Given the description of an element on the screen output the (x, y) to click on. 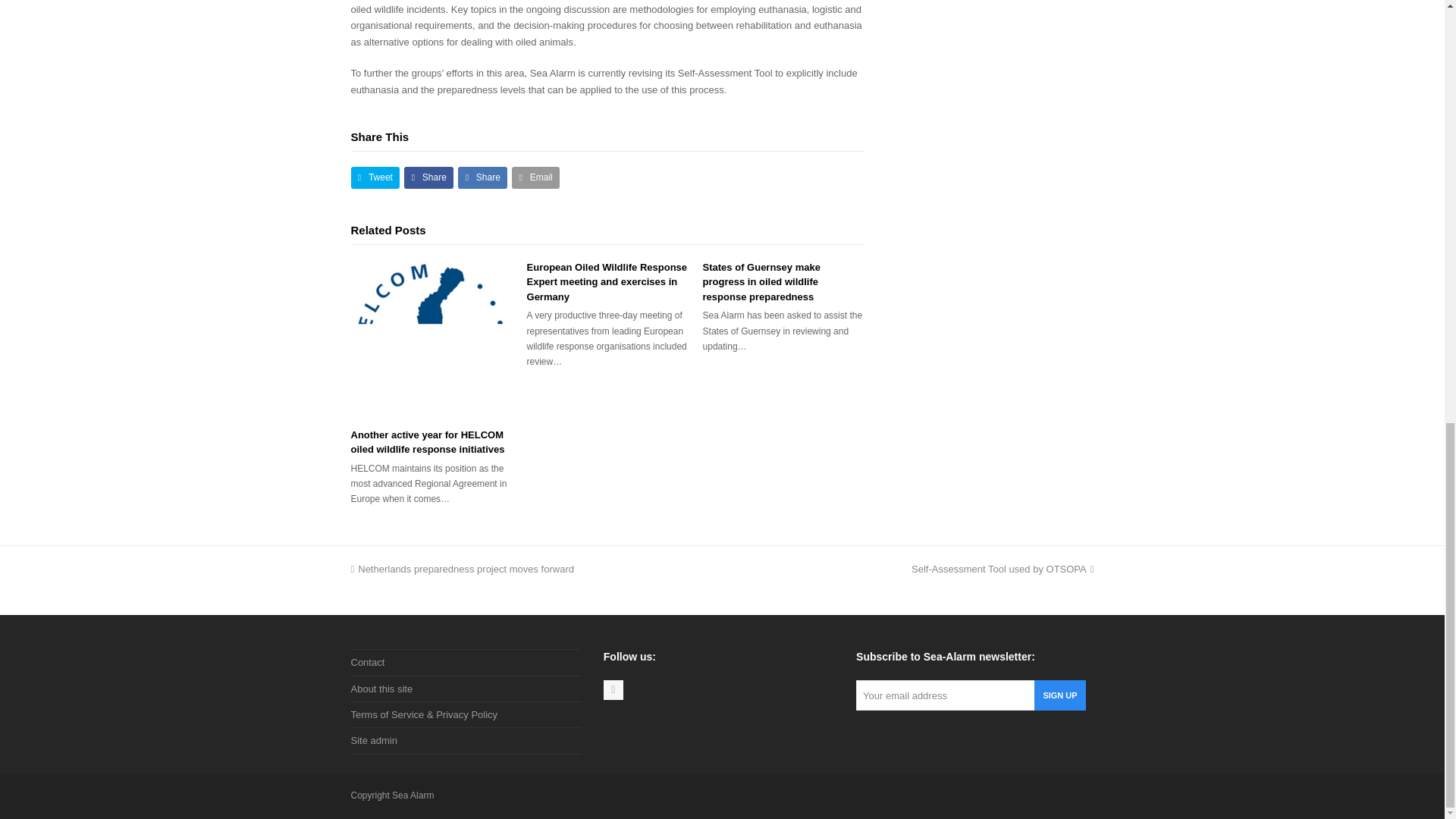
Tweet (374, 178)
Share (428, 178)
Share (482, 178)
Email (535, 178)
LinkedIn (613, 690)
